Given the description of an element on the screen output the (x, y) to click on. 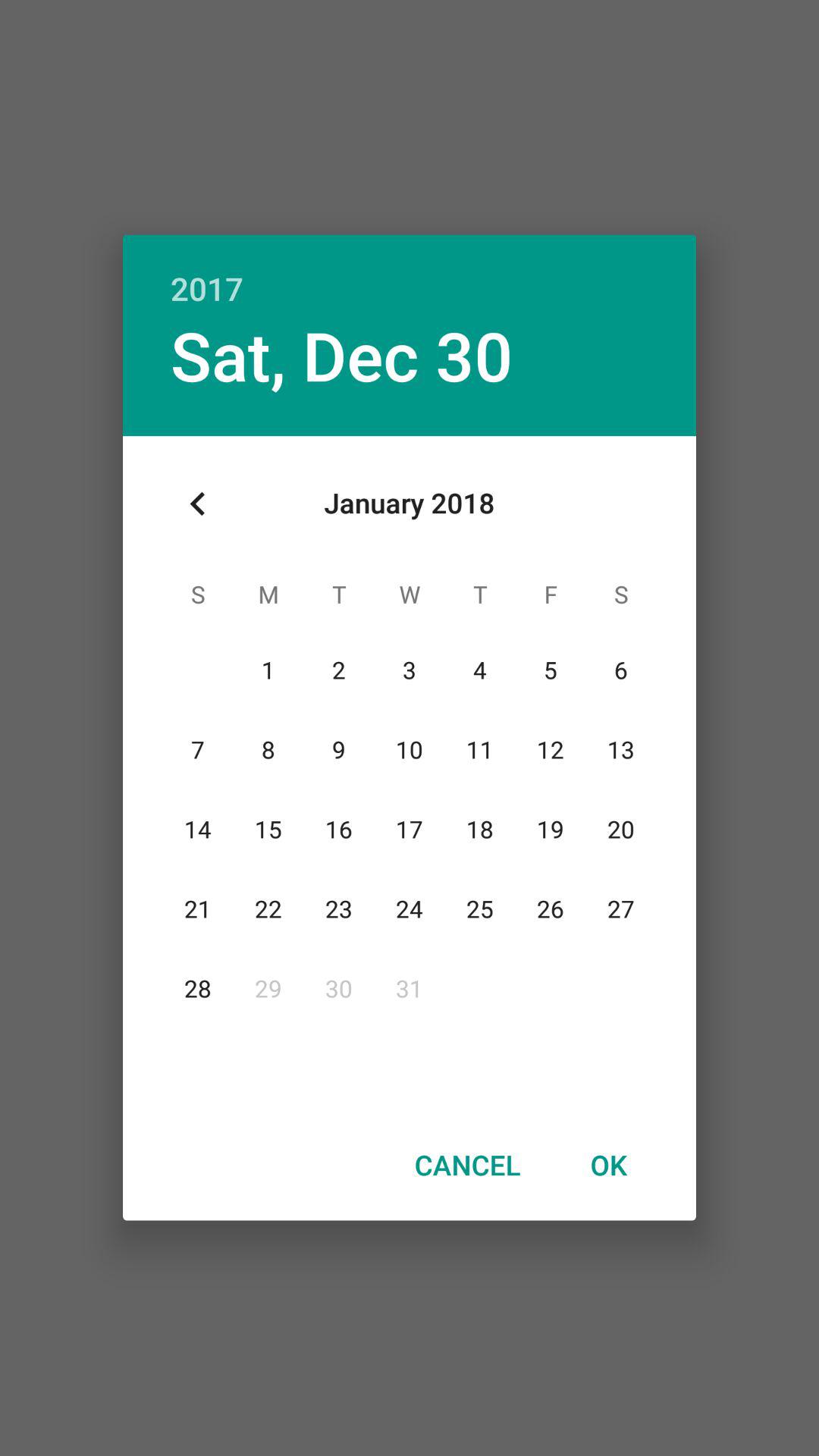
jump until ok (608, 1164)
